Given the description of an element on the screen output the (x, y) to click on. 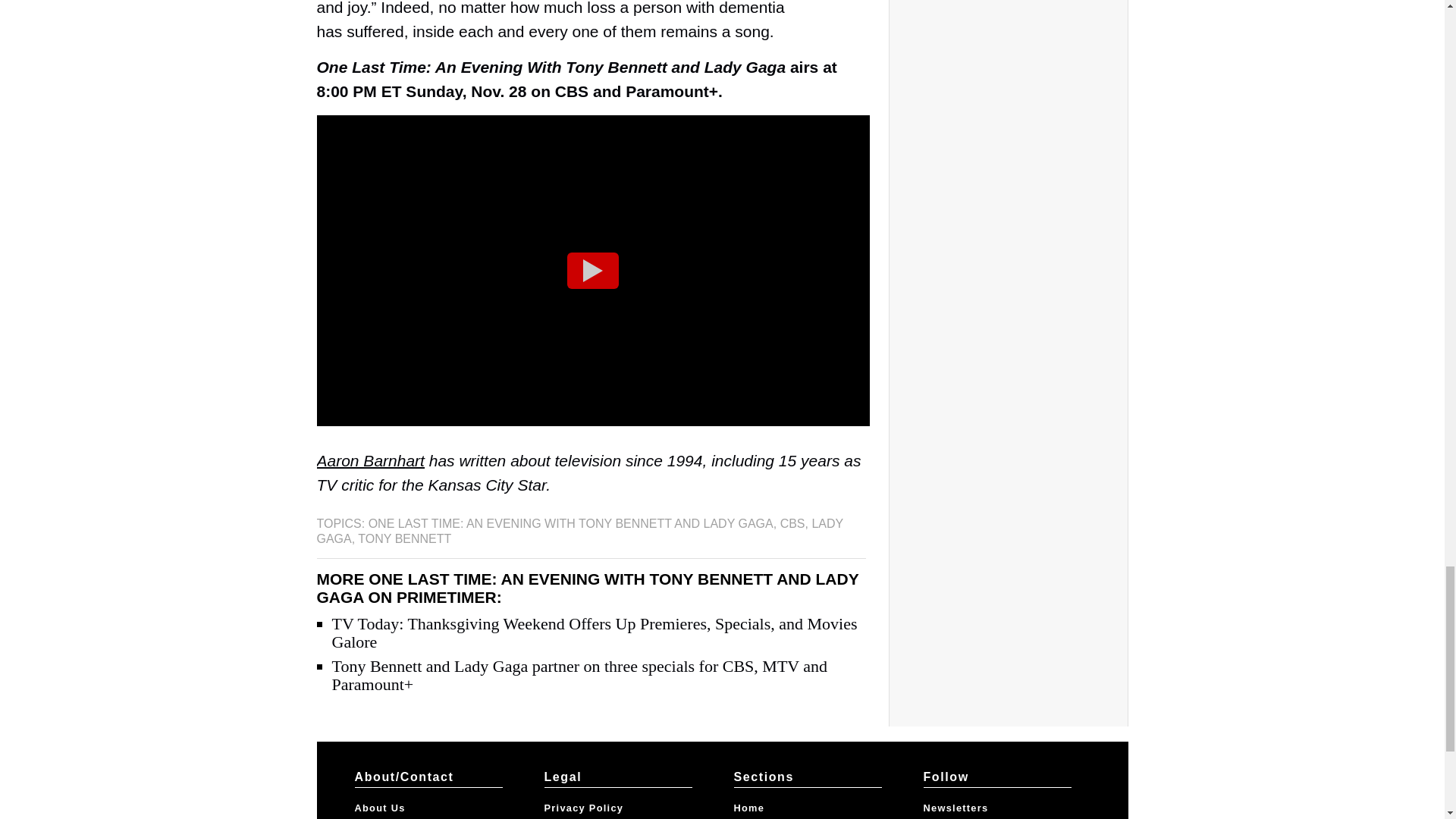
Aaron Barnhart (371, 460)
CBS (792, 522)
TONY BENNETT (404, 538)
ONE LAST TIME: AN EVENING WITH TONY BENNETT AND LADY GAGA (570, 522)
LADY GAGA (580, 530)
